Given the description of an element on the screen output the (x, y) to click on. 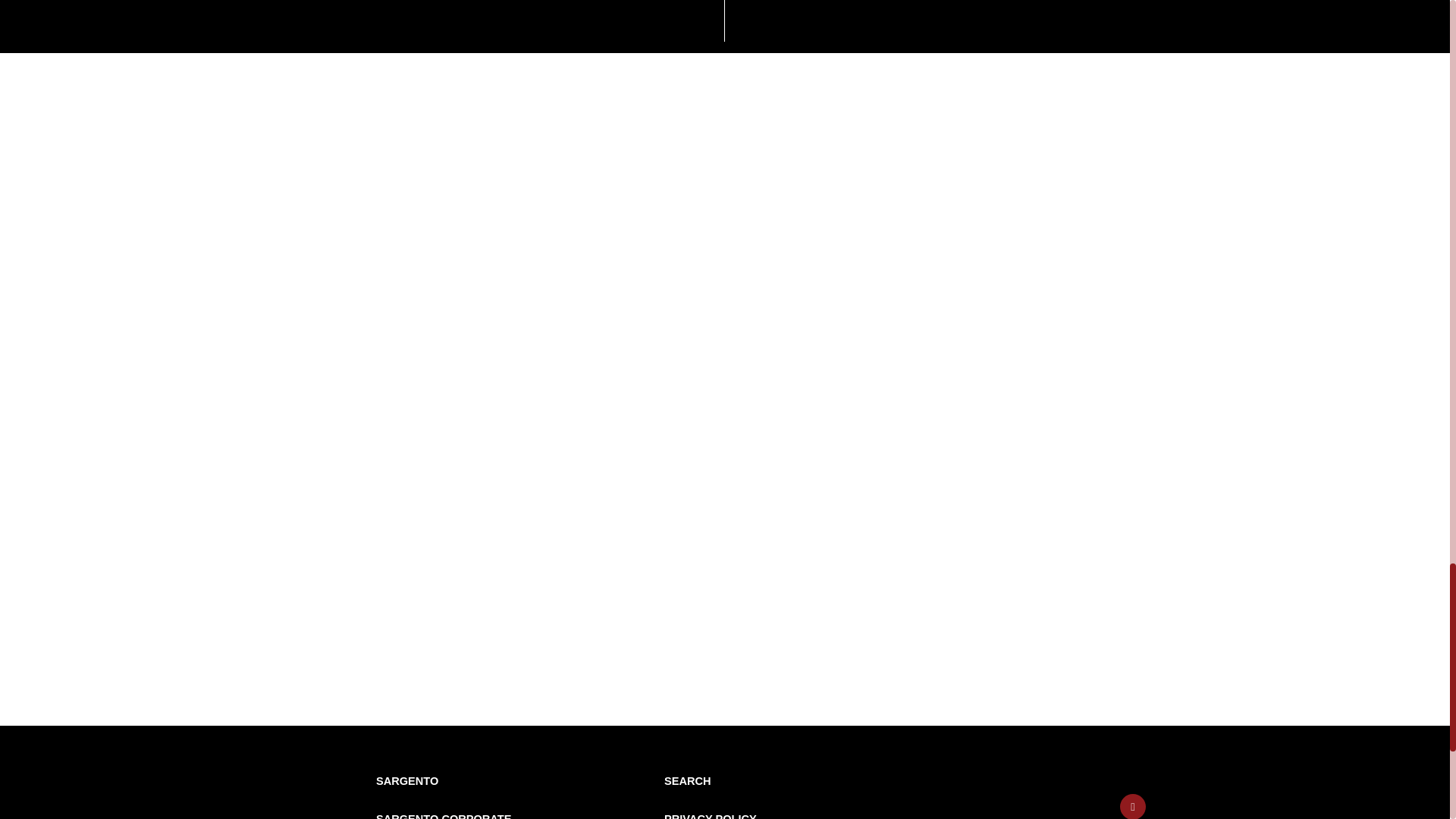
SARGENTO (406, 780)
SARGENTO CORPORATE (443, 816)
Go to the Search page (687, 780)
PRIVACY POLICY (710, 816)
Go to the Sargento Corporate page (443, 816)
Go to the Sargento page (406, 780)
Go to the Privacy Policy page (710, 816)
SEARCH (687, 780)
